Given the description of an element on the screen output the (x, y) to click on. 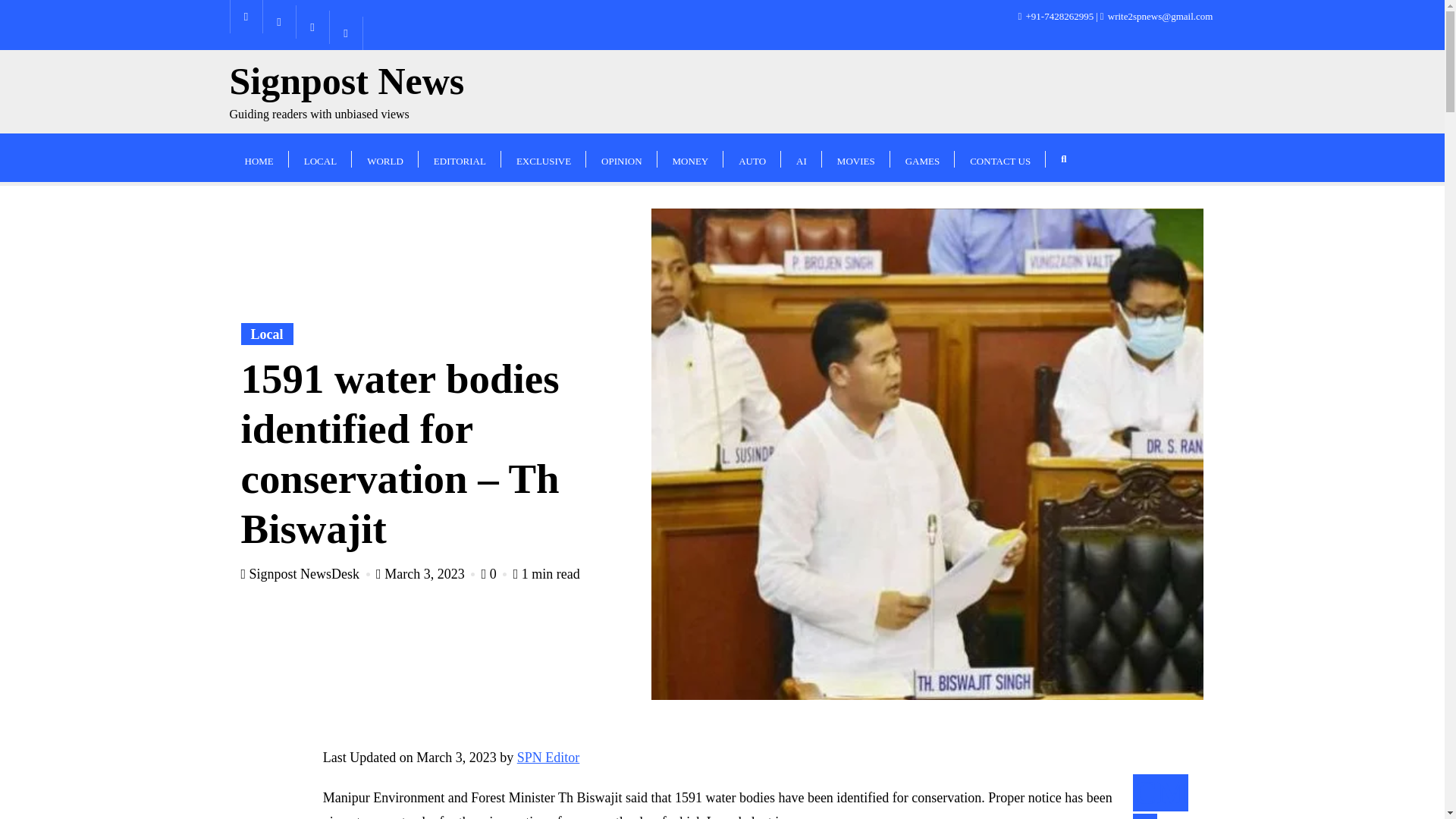
Local (267, 333)
GAMES (922, 156)
Signpost NewsDesk (306, 573)
WORLD (385, 156)
AUTO (751, 156)
1 min read (546, 573)
SPN Editor (547, 757)
0 (346, 91)
March 3, 2023 (496, 573)
